Given the description of an element on the screen output the (x, y) to click on. 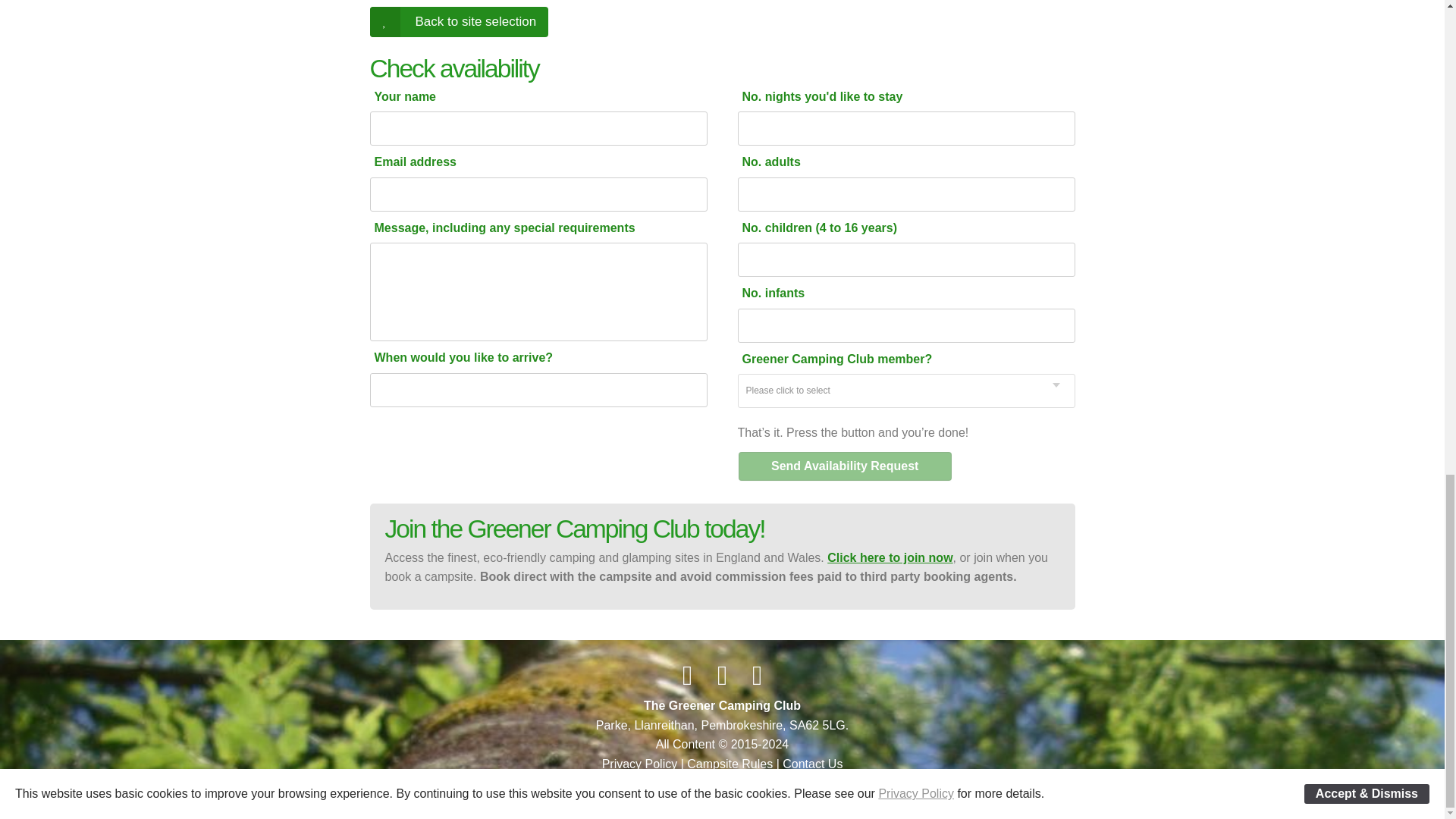
No. infants (895, 293)
Back to site selection (458, 21)
No. adults (895, 162)
Contact Us (813, 763)
Greener Camping Club member? (895, 358)
Campsite Rules (730, 763)
No. nights you'd like to stay (895, 96)
Go Back (458, 21)
Privacy Policy (640, 763)
Click here to join now (889, 557)
Message, including any special requirements (528, 227)
When would you like to arrive? (528, 357)
Email address (528, 162)
Send Availability Request (845, 466)
Your name (528, 96)
